Given the description of an element on the screen output the (x, y) to click on. 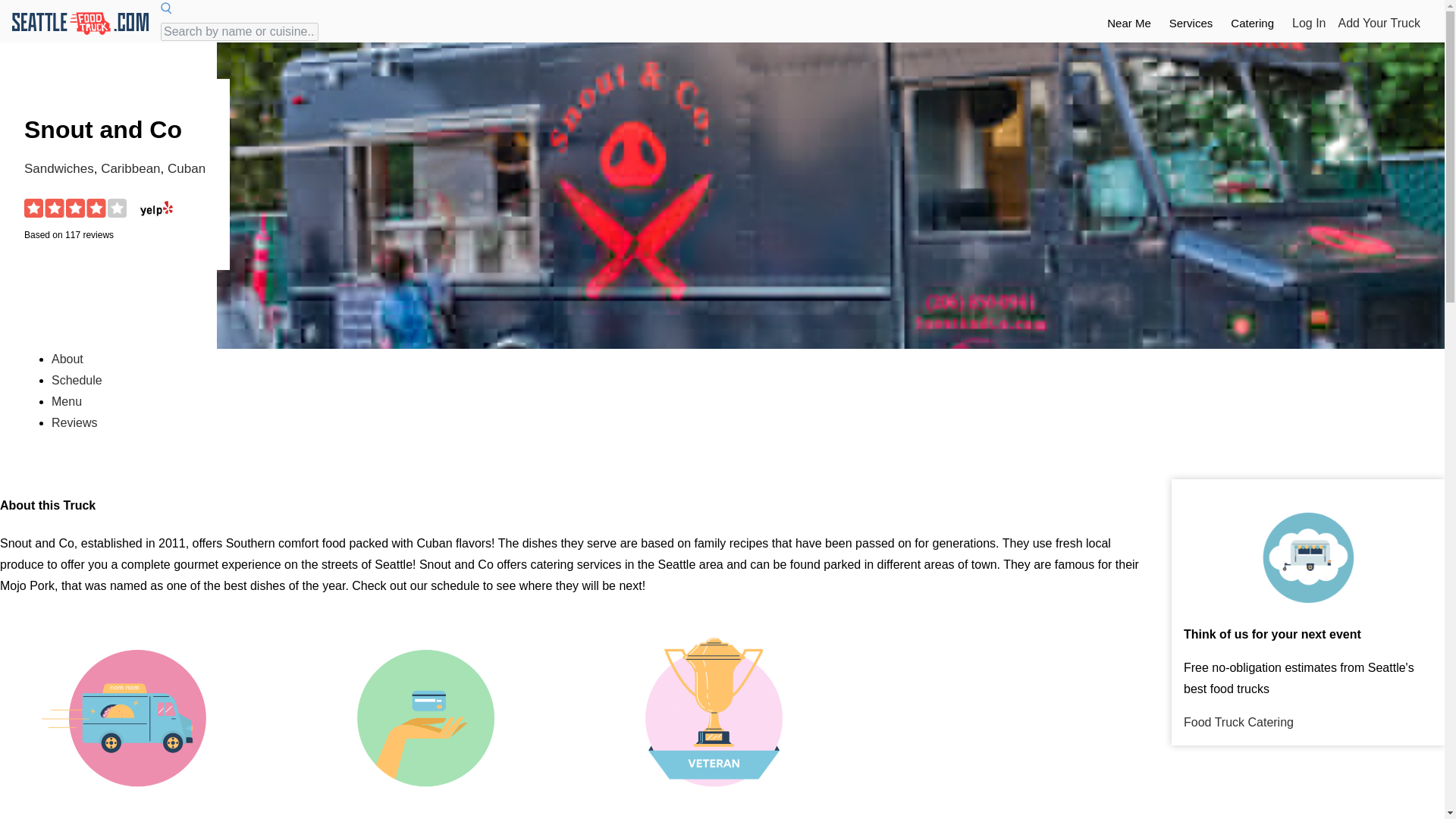
Near Me (1128, 18)
Catering (1252, 18)
Add Your Truck (1379, 23)
Log In (1308, 23)
Services (1190, 22)
